Given the description of an element on the screen output the (x, y) to click on. 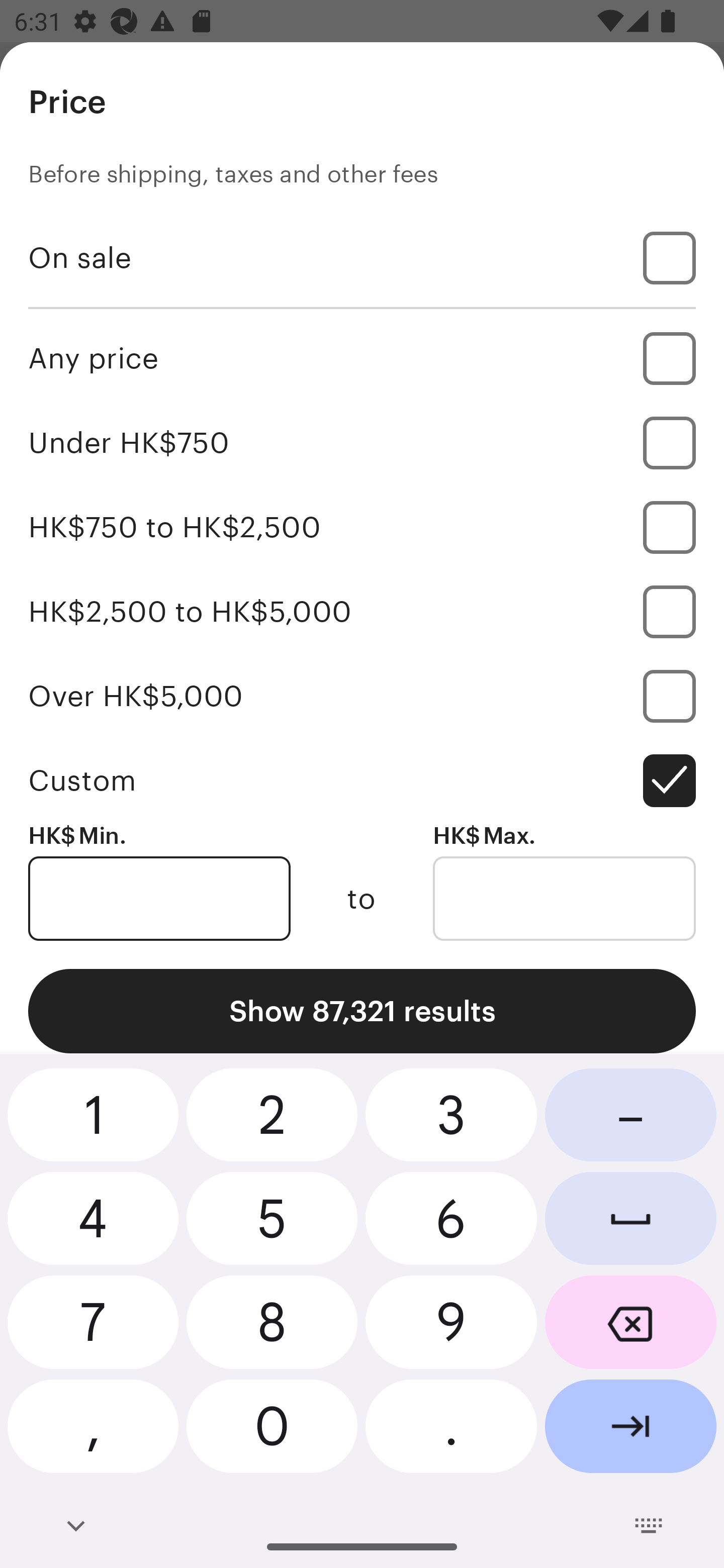
On sale (362, 257)
Any price (362, 357)
Under HK$750 (362, 441)
HK$750 to HK$2,500 (362, 526)
HK$2,500 to HK$5,000 (362, 611)
Over HK$5,000 (362, 695)
Custom (362, 780)
Show 87,321 results (361, 1011)
